Given the description of an element on the screen output the (x, y) to click on. 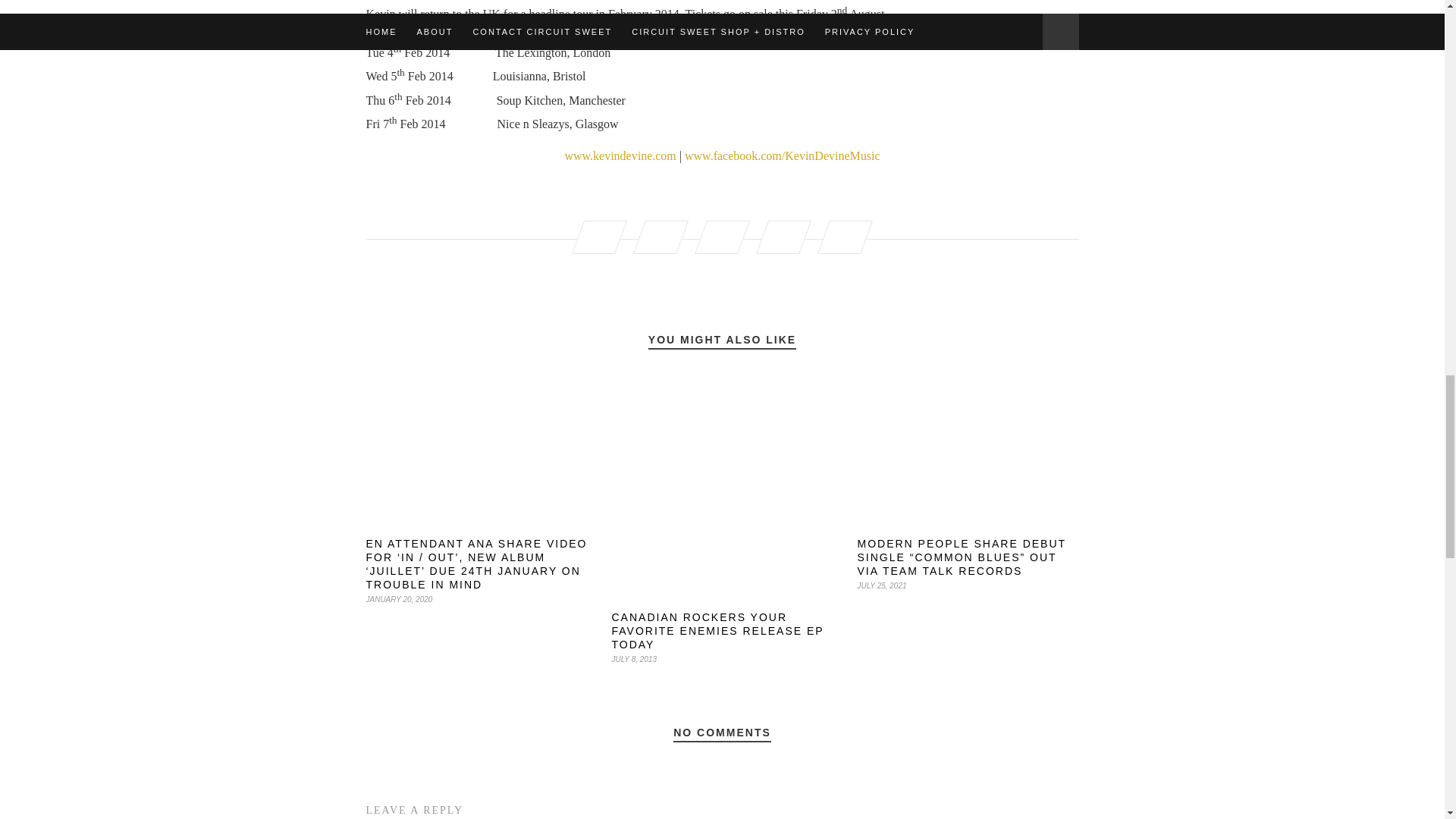
CANADIAN ROCKERS YOUR FAVORITE ENEMIES RELEASE EP TODAY (717, 630)
www.kevindevine.com (619, 155)
